Given the description of an element on the screen output the (x, y) to click on. 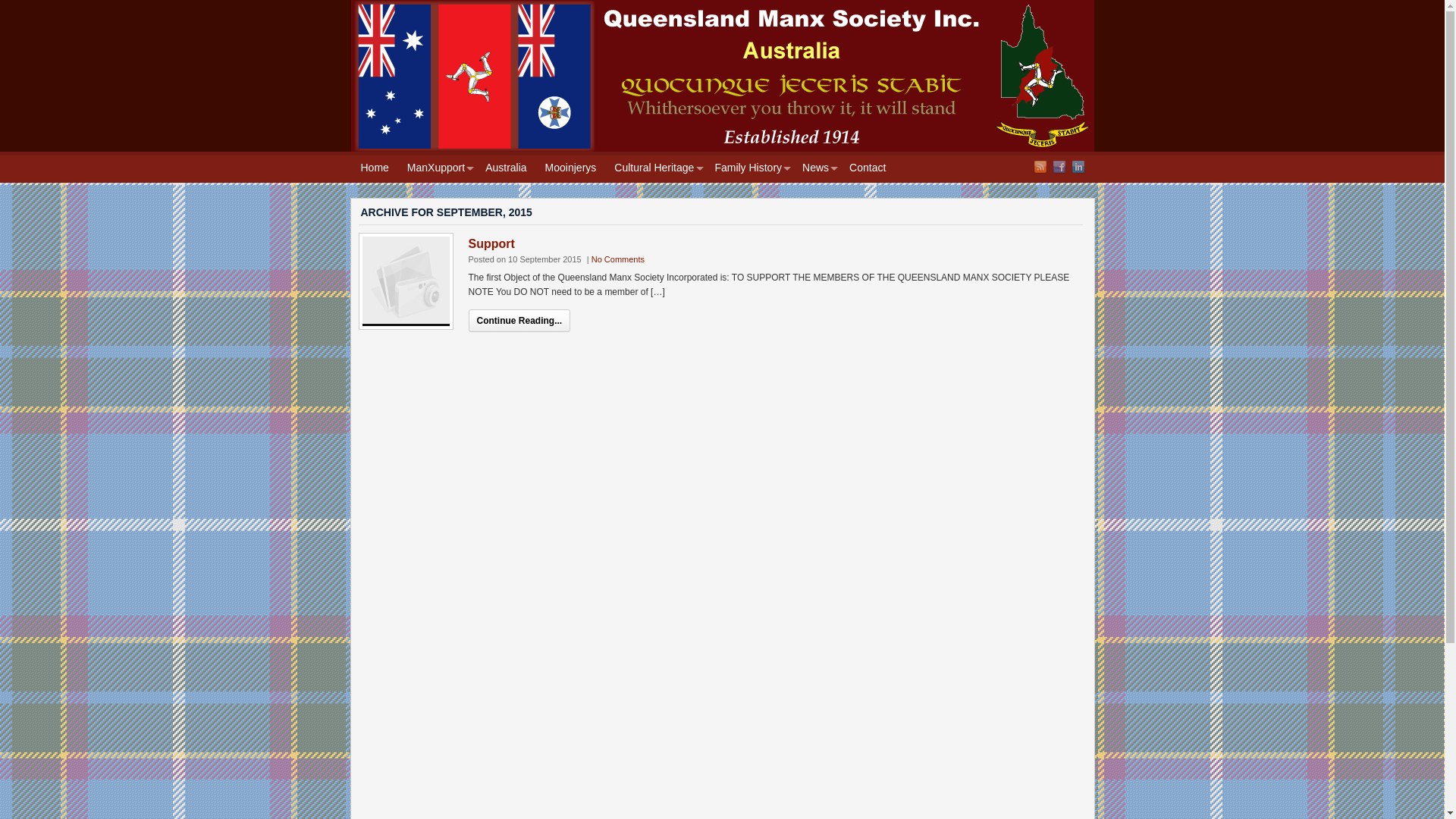
Flickr Element type: text (1077, 166)
News Element type: text (816, 168)
Australia Element type: text (505, 168)
Support Element type: text (491, 243)
Mooinjerys Element type: text (570, 168)
Support Element type: hover (405, 279)
Continue Reading... Element type: text (519, 320)
Facebook Element type: text (1058, 166)
ManXupport Element type: text (437, 168)
Home Element type: text (374, 168)
No Comments Element type: text (617, 258)
RSS Feed Element type: text (1040, 166)
Cultural Heritage Element type: text (655, 168)
Family History Element type: text (749, 168)
Contact Element type: text (867, 168)
